Given the description of an element on the screen output the (x, y) to click on. 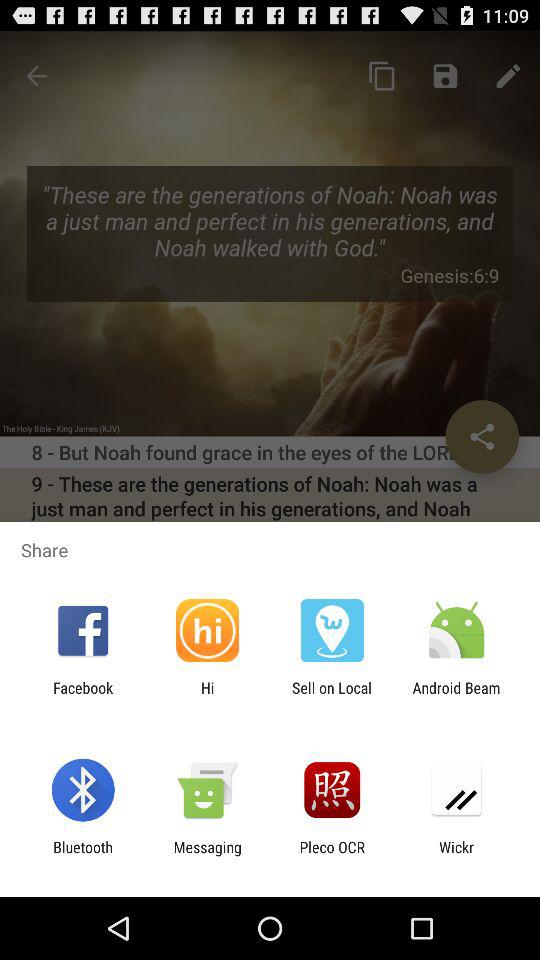
press the icon next to the messaging (82, 856)
